Given the description of an element on the screen output the (x, y) to click on. 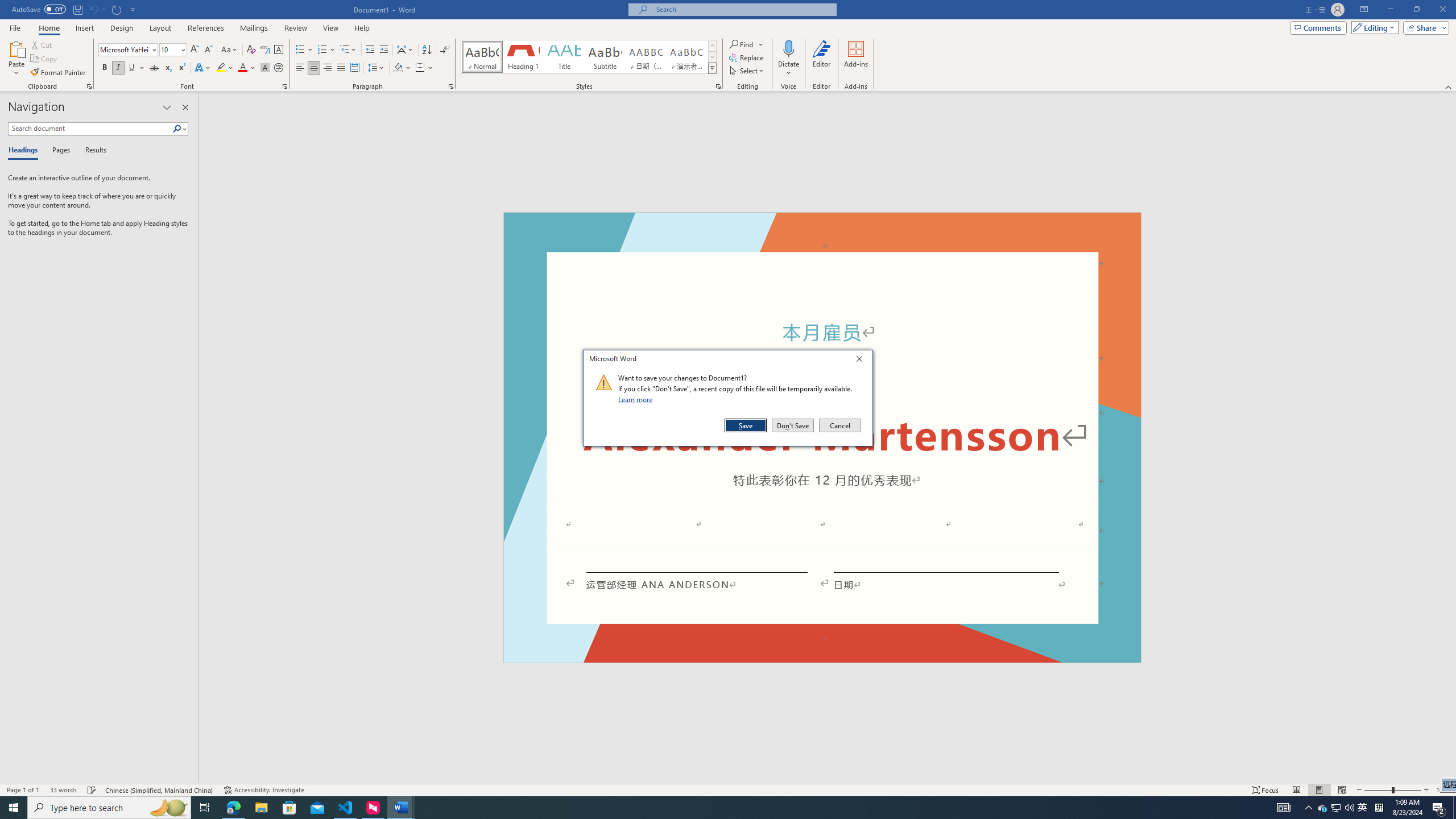
Zoom 100% (1443, 790)
Tray Input Indicator - Chinese (Simplified, China) (1378, 807)
Page Number Page 1 of 1 (22, 790)
Microsoft Edge - 1 running window (233, 807)
